Given the description of an element on the screen output the (x, y) to click on. 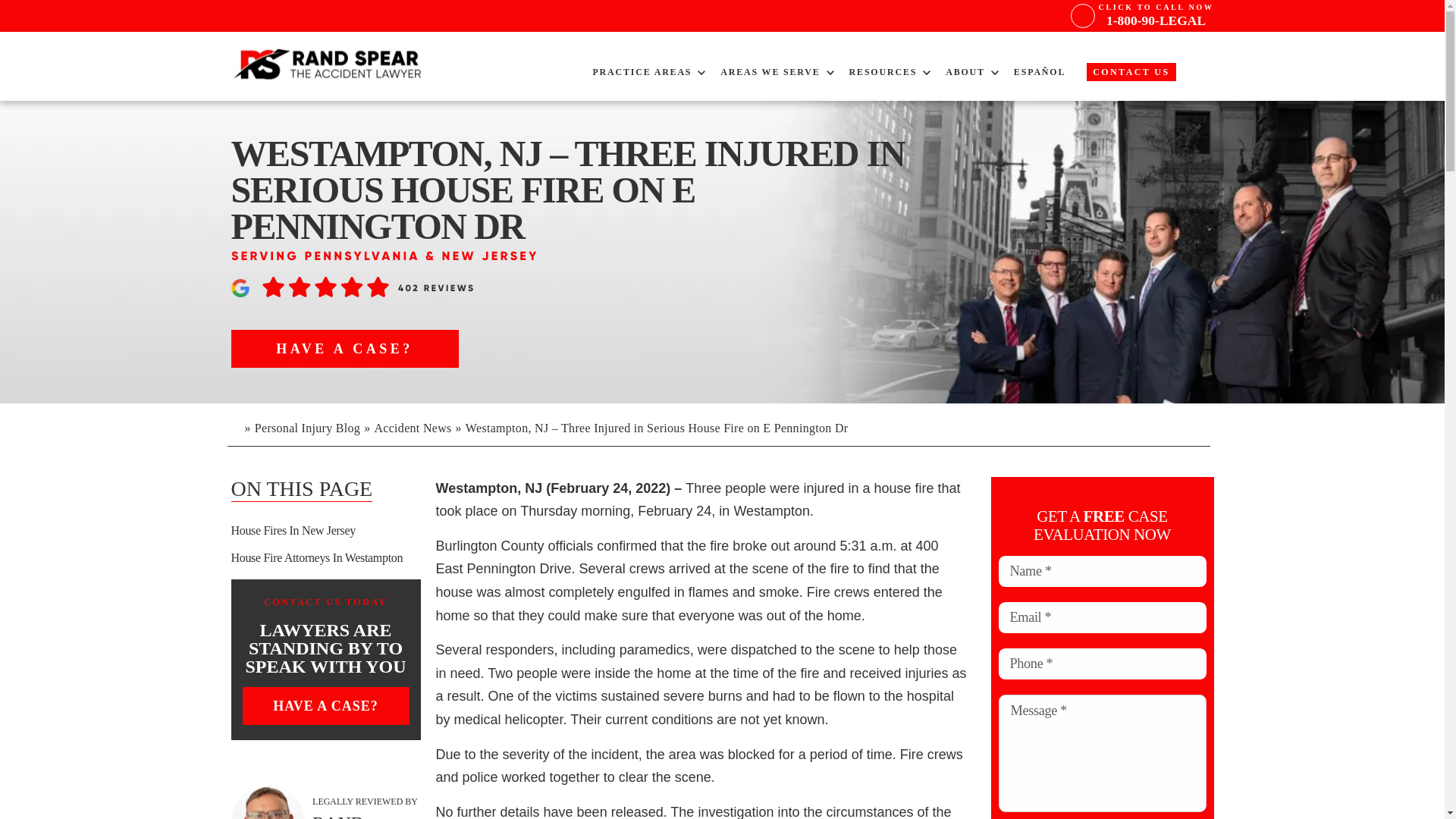
Contact Us (1156, 15)
PRACTICE AREAS (1130, 72)
AREAS WE SERVE (641, 71)
Open Search (769, 71)
Call to Rand Spear (1200, 76)
House Fire Attorneys In Westampton (1156, 15)
HAVE A CASE? (325, 558)
Rand Spear (344, 348)
Rand Spear (329, 64)
